Given the description of an element on the screen output the (x, y) to click on. 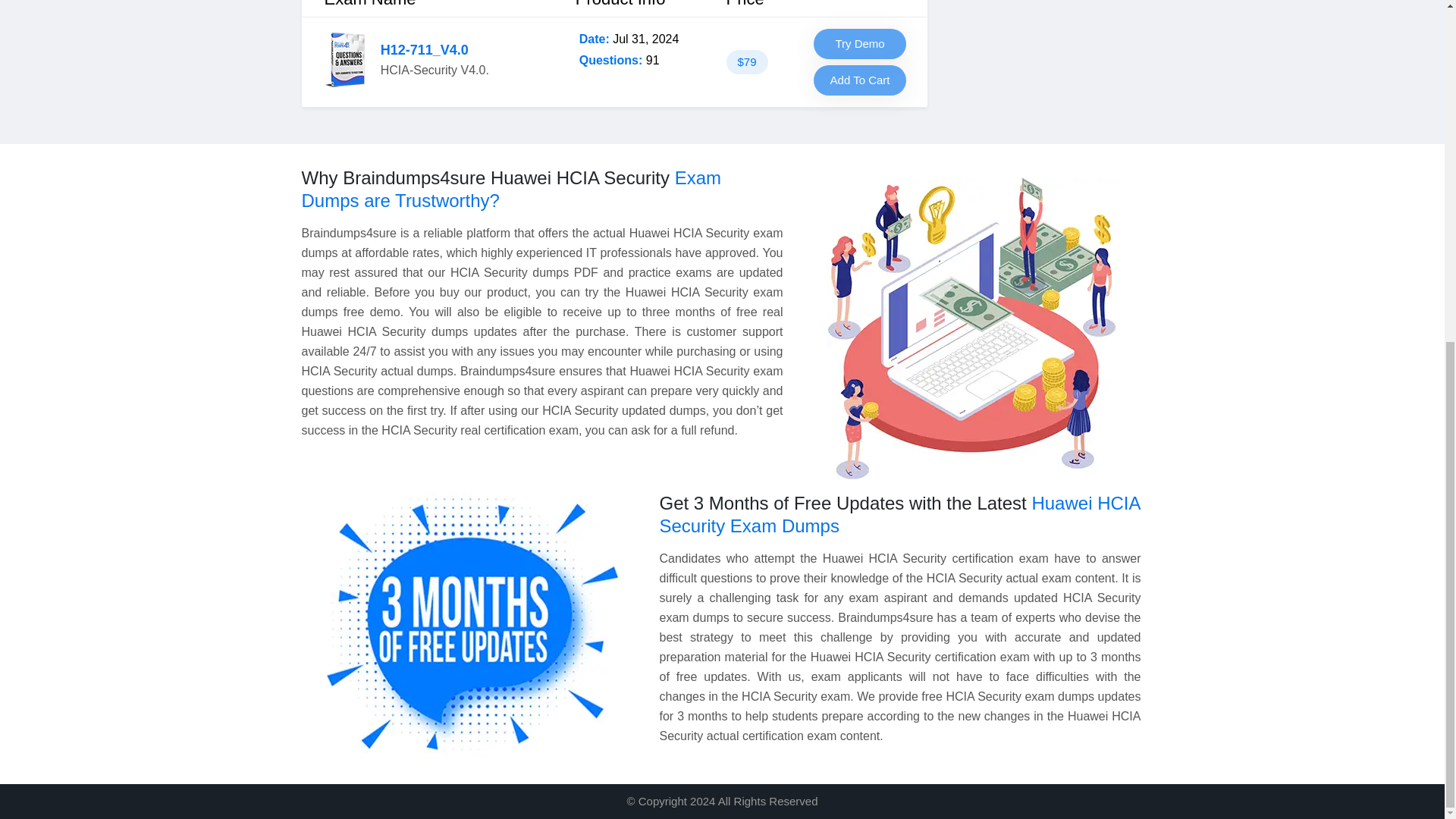
Add To Cart (860, 80)
Try Demo (860, 43)
Try Demo (860, 43)
